Given the description of an element on the screen output the (x, y) to click on. 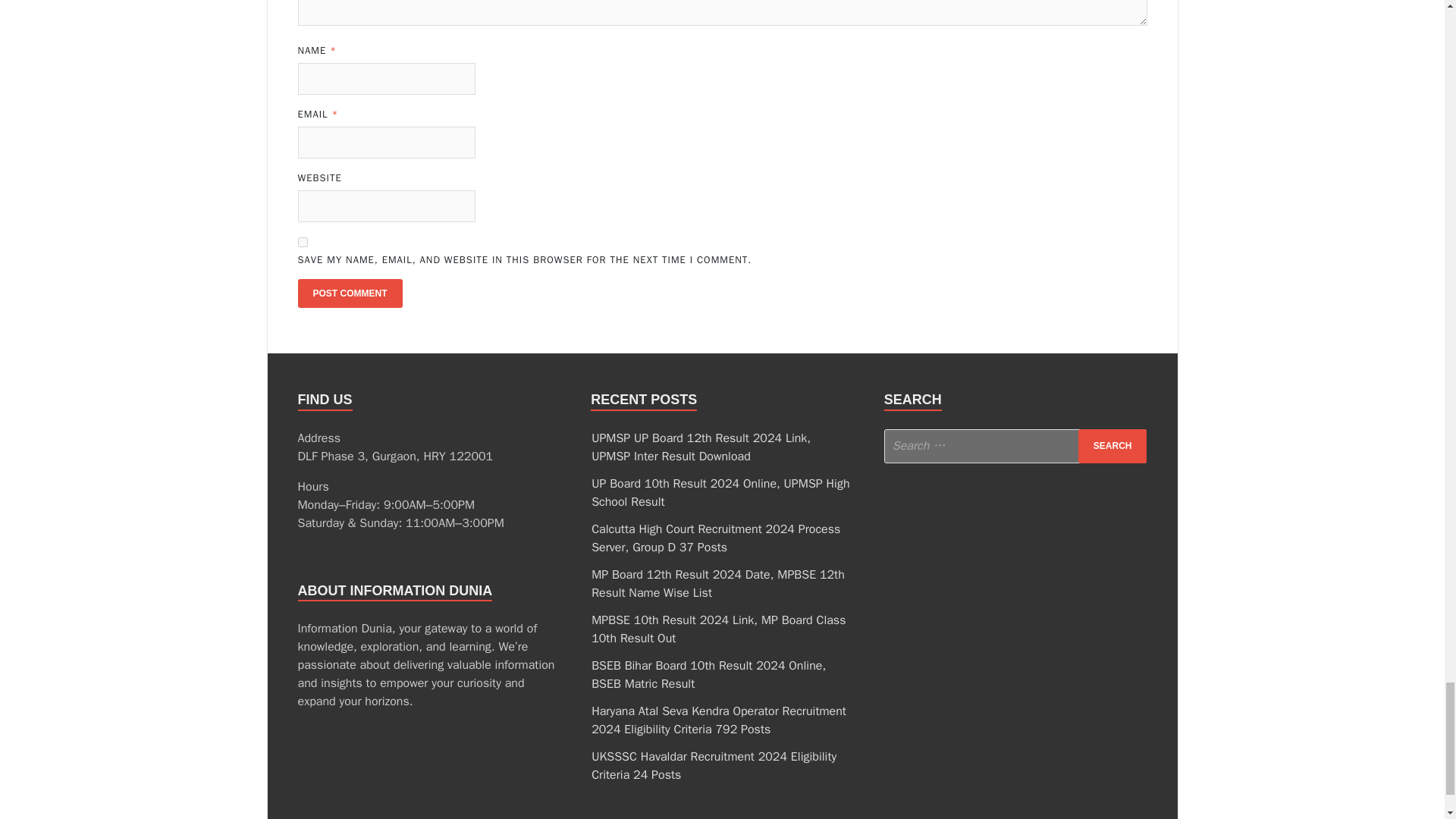
Post Comment (349, 293)
Search (1112, 446)
yes (302, 242)
Search (1112, 446)
